Given the description of an element on the screen output the (x, y) to click on. 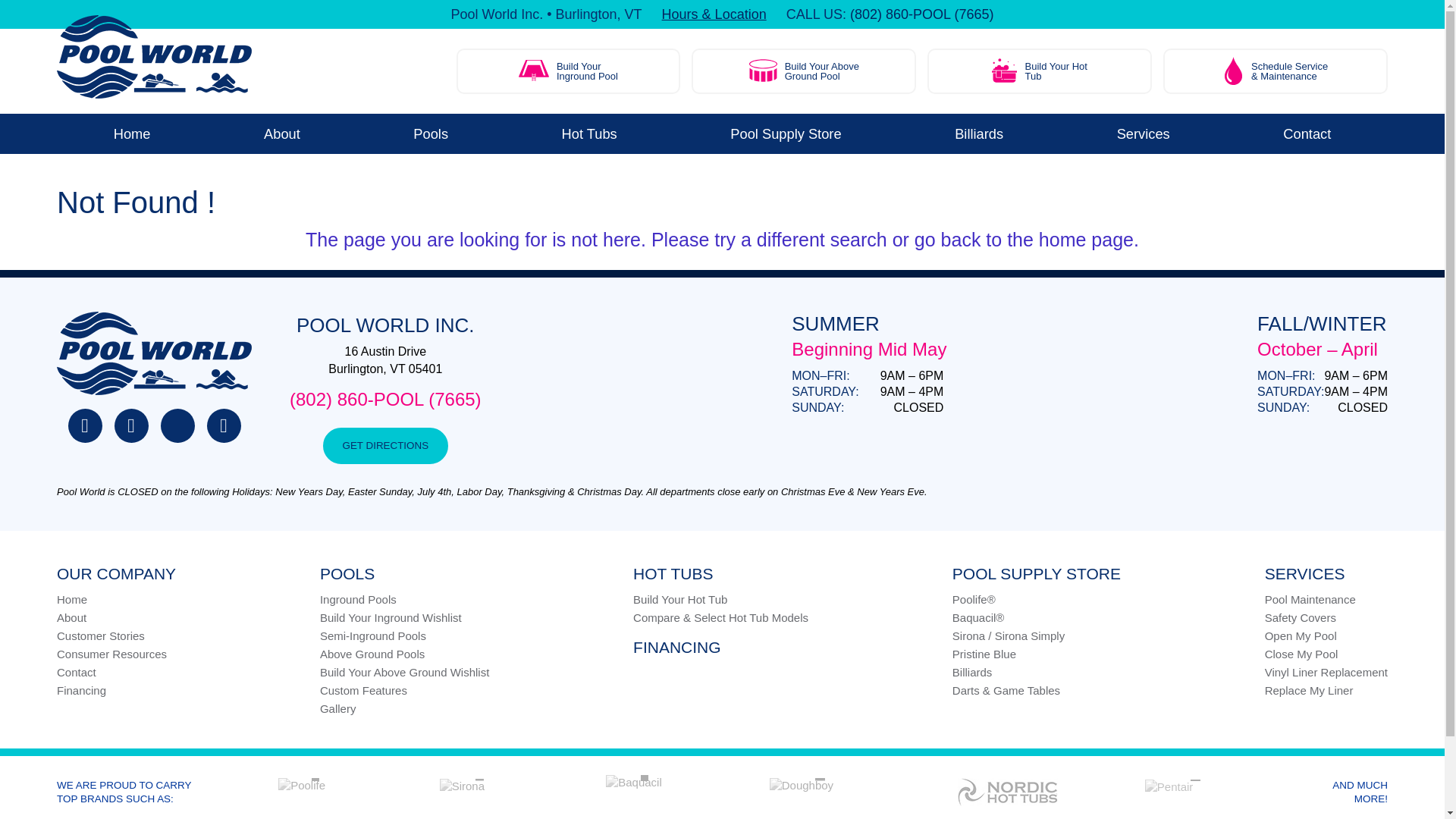
Contact (803, 71)
Pools (1308, 133)
Billiards (430, 133)
Hot Tubs (978, 133)
Services (589, 133)
Home (569, 71)
About (1143, 133)
